Given the description of an element on the screen output the (x, y) to click on. 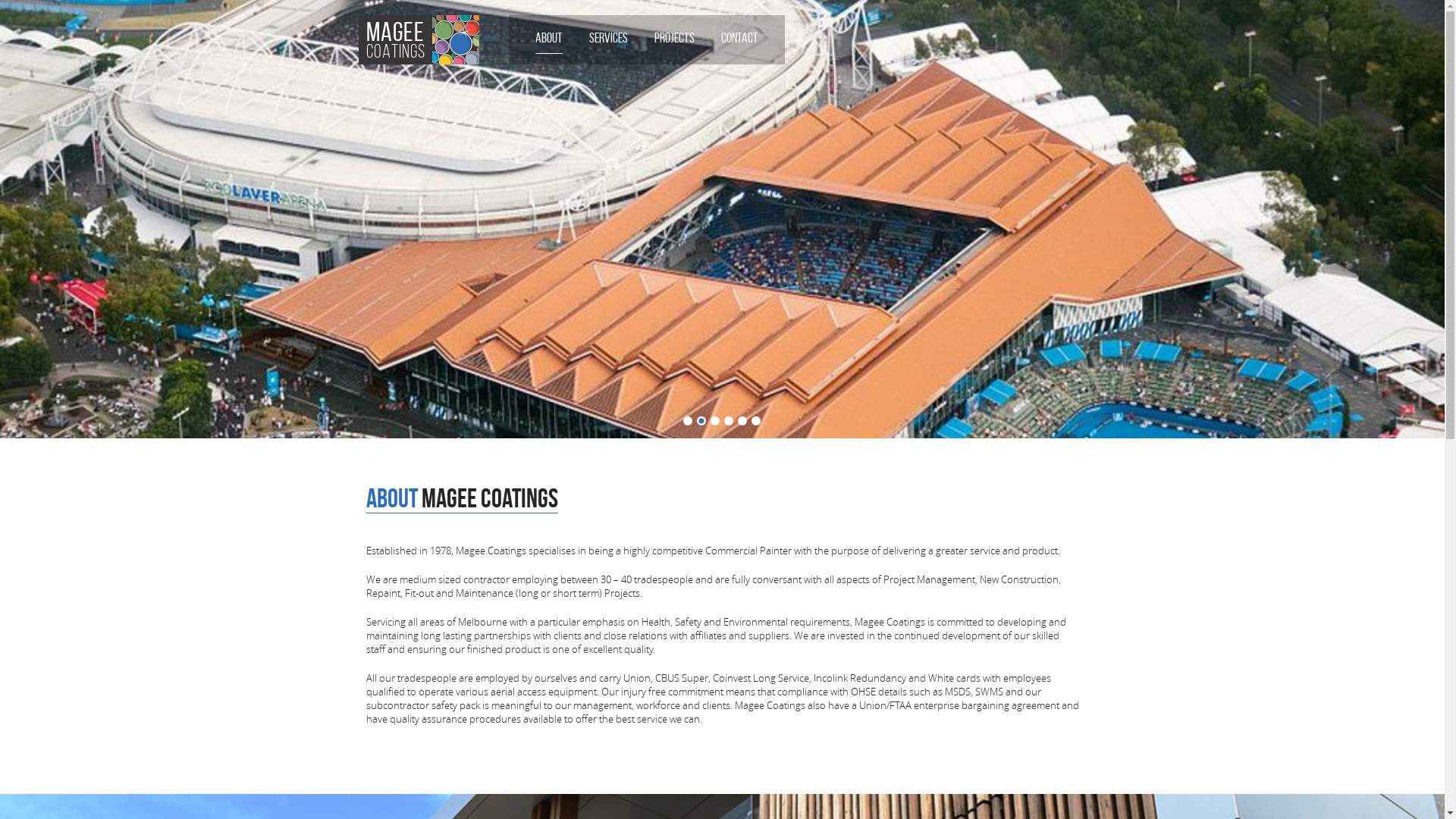
SERVICES Element type: text (607, 37)
PROJECTS Element type: text (673, 37)
CONTACT Element type: text (738, 37)
ABOUT Element type: text (548, 37)
